Given the description of an element on the screen output the (x, y) to click on. 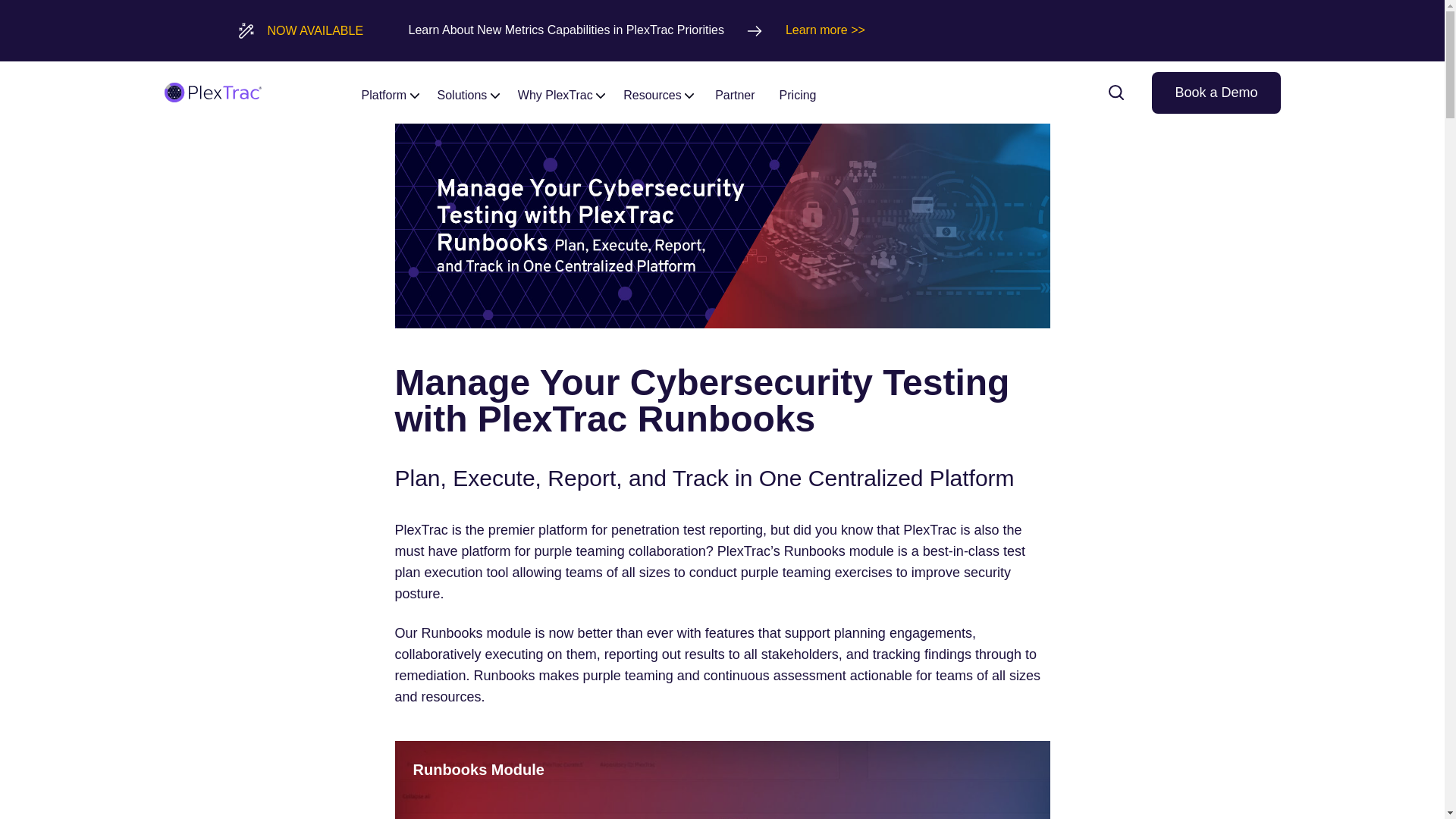
Solutions (467, 91)
Why PlexTrac (561, 91)
Platform (390, 91)
Resources (658, 91)
Partner (734, 91)
